Given the description of an element on the screen output the (x, y) to click on. 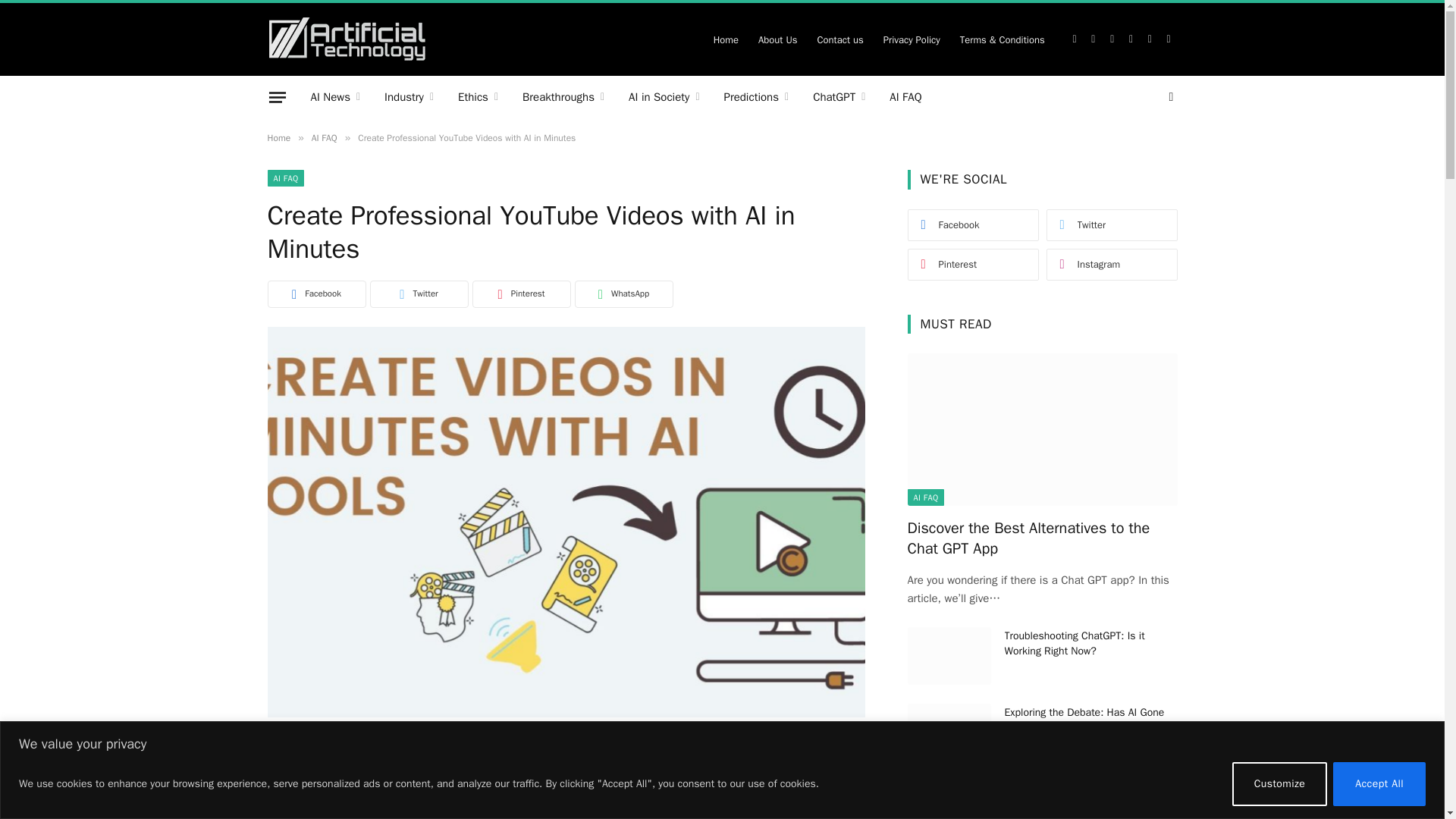
Privacy Policy (911, 39)
Accept All (1379, 783)
Customize (1279, 783)
Contact us (839, 39)
Artificial Technology (346, 39)
